Given the description of an element on the screen output the (x, y) to click on. 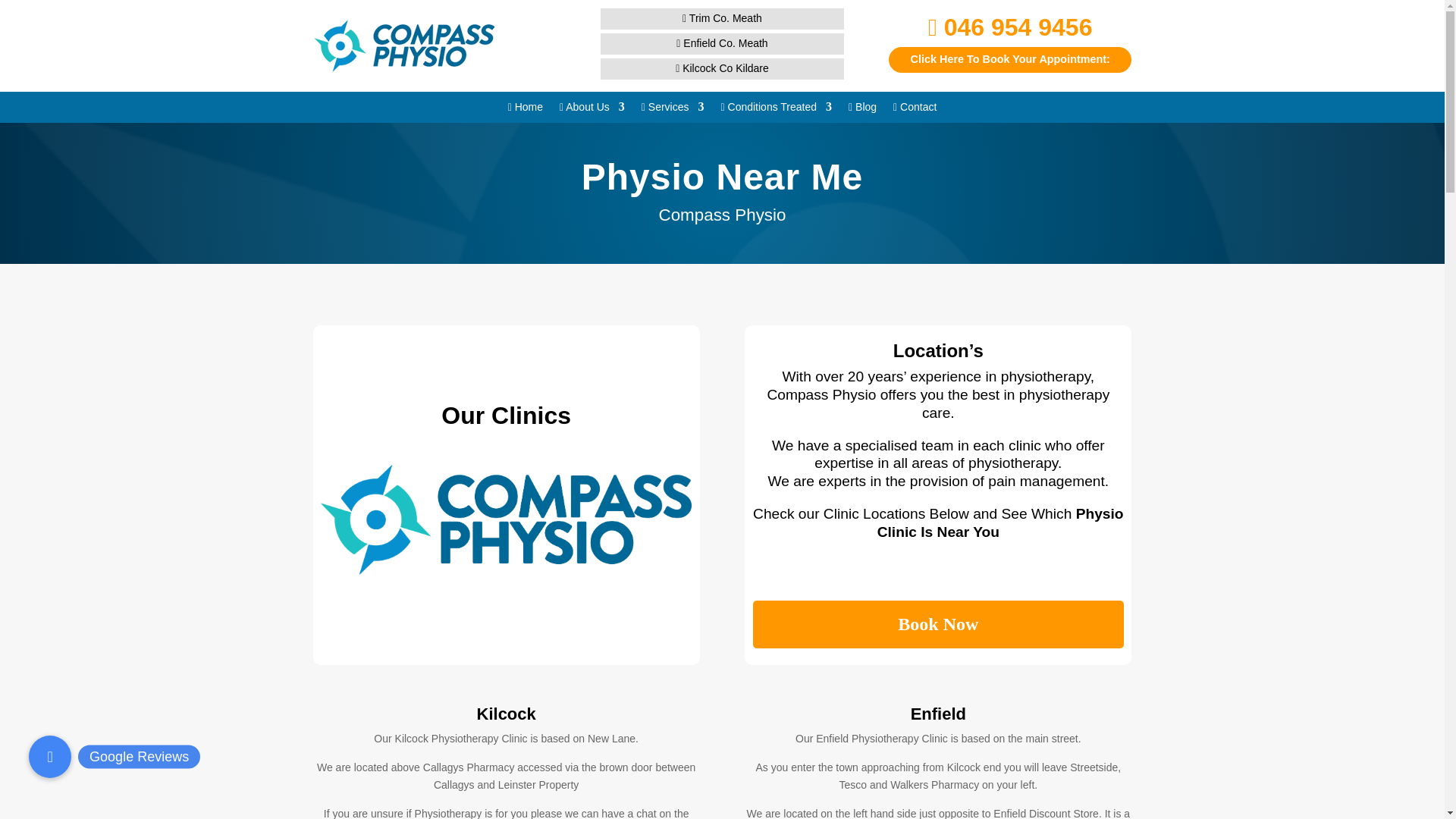
Home (525, 109)
Blog (862, 109)
About Us (591, 109)
compass physio (404, 45)
Services (673, 109)
Compass Logo Web (505, 526)
Contact (914, 109)
Conditions Treated (776, 109)
